Given the description of an element on the screen output the (x, y) to click on. 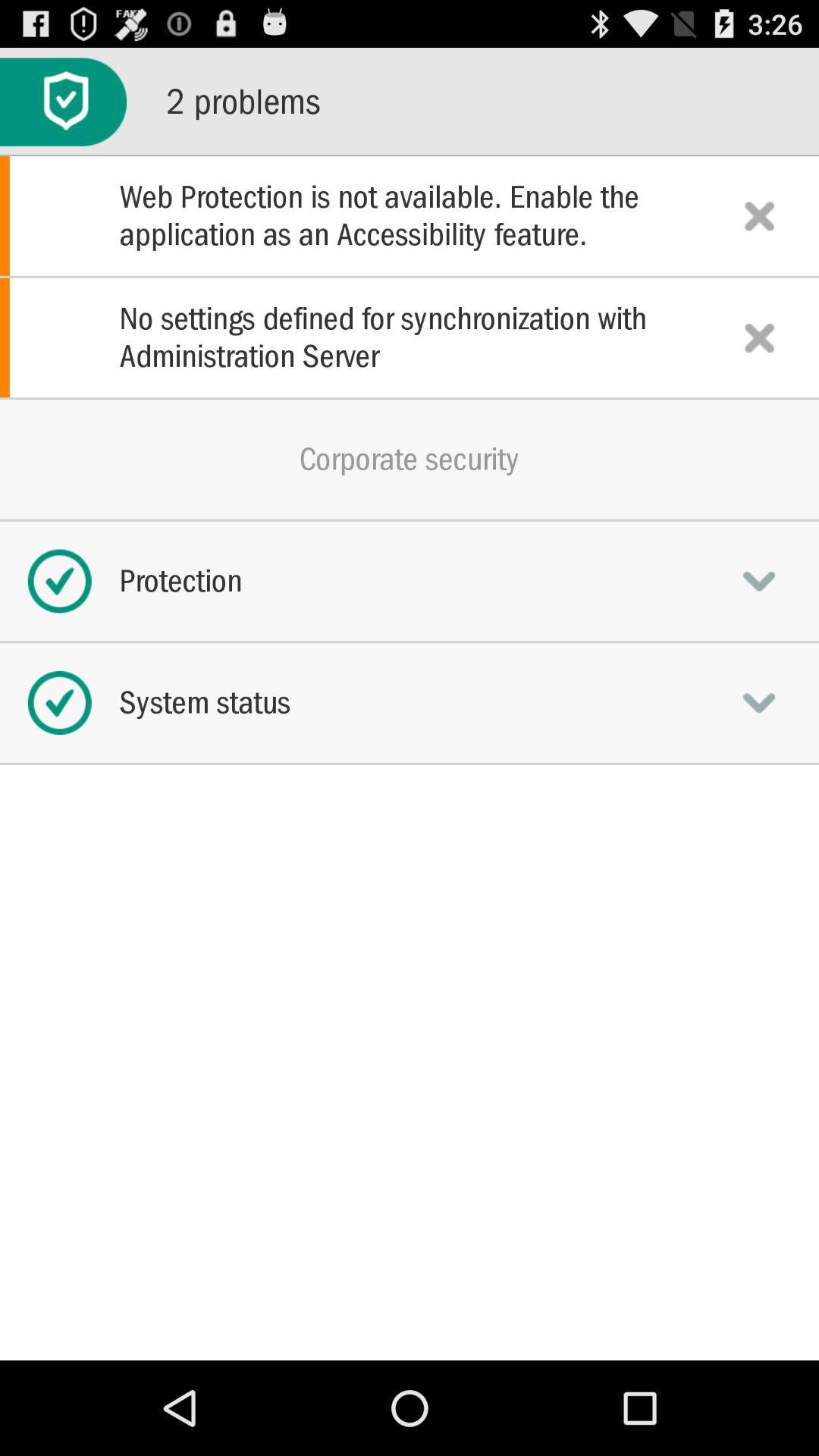
choose the icon next to the 2 problems (63, 102)
